Given the description of an element on the screen output the (x, y) to click on. 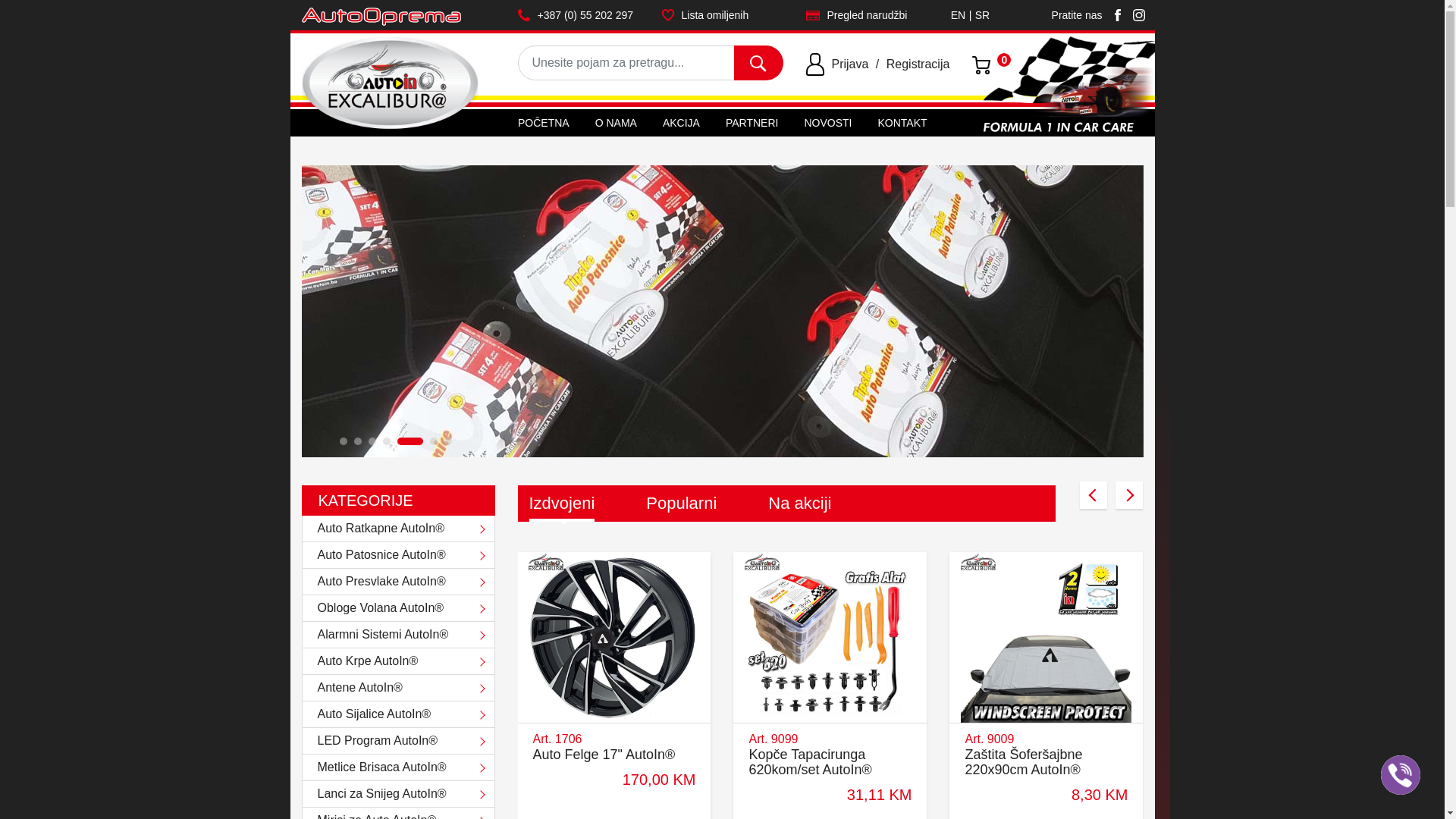
KONTAKT Element type: text (901, 122)
Prijava Element type: text (849, 63)
0 Element type: text (982, 64)
O NAMA Element type: text (616, 122)
Registracija Element type: text (918, 63)
AKCIJA Element type: text (681, 122)
Na akciji Element type: text (799, 503)
EN Element type: text (957, 21)
PARTNERI Element type: text (751, 122)
Lista omiljenih Element type: text (721, 15)
Izdvojeni Element type: text (562, 503)
SR Element type: text (982, 21)
Popularni Element type: text (681, 503)
NOVOSTI Element type: text (827, 122)
